Given the description of an element on the screen output the (x, y) to click on. 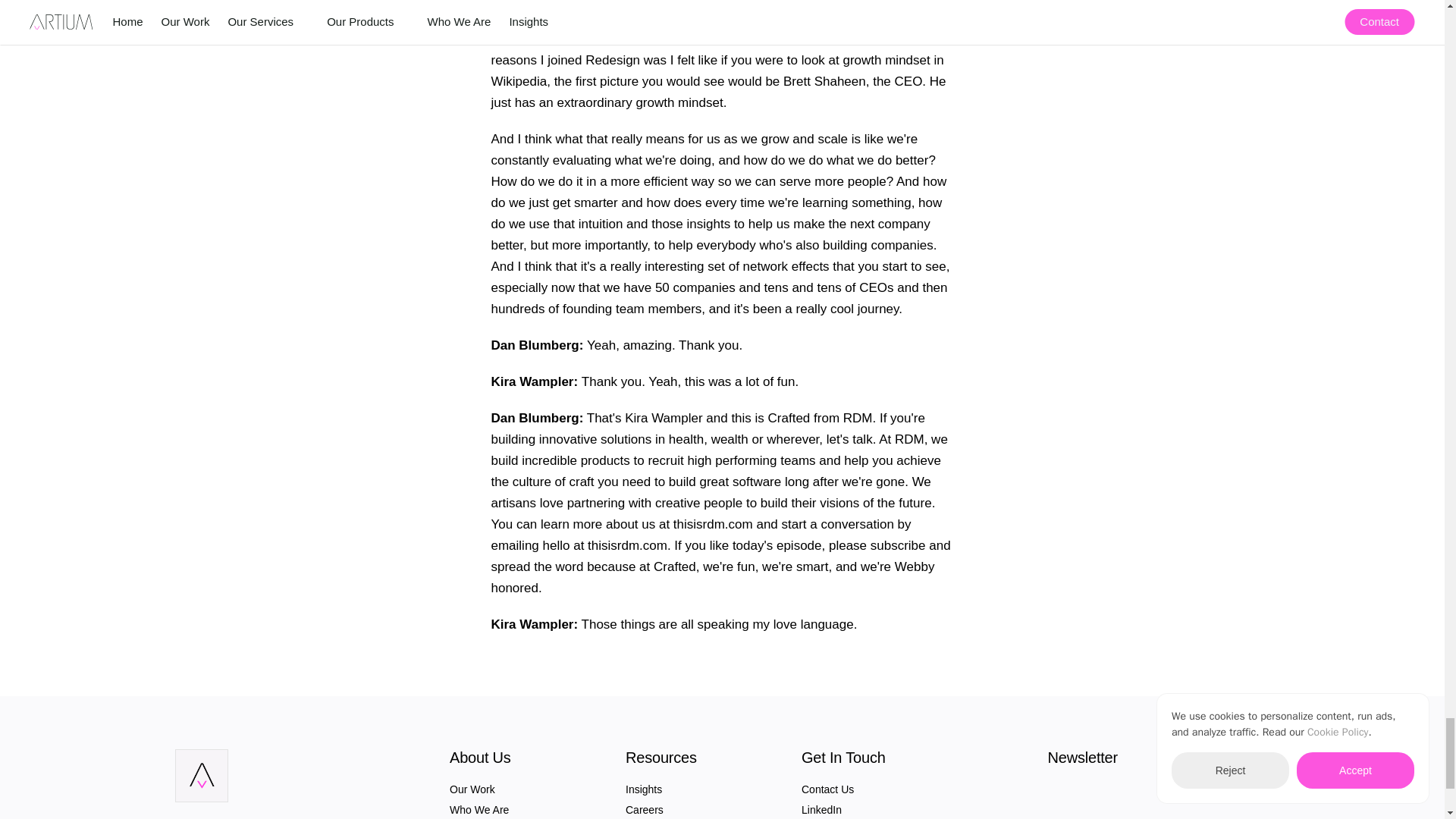
Our Work (472, 788)
Careers (644, 809)
Insights (644, 788)
Contact Us (827, 788)
Who We Are (478, 809)
LinkedIn (821, 809)
